Given the description of an element on the screen output the (x, y) to click on. 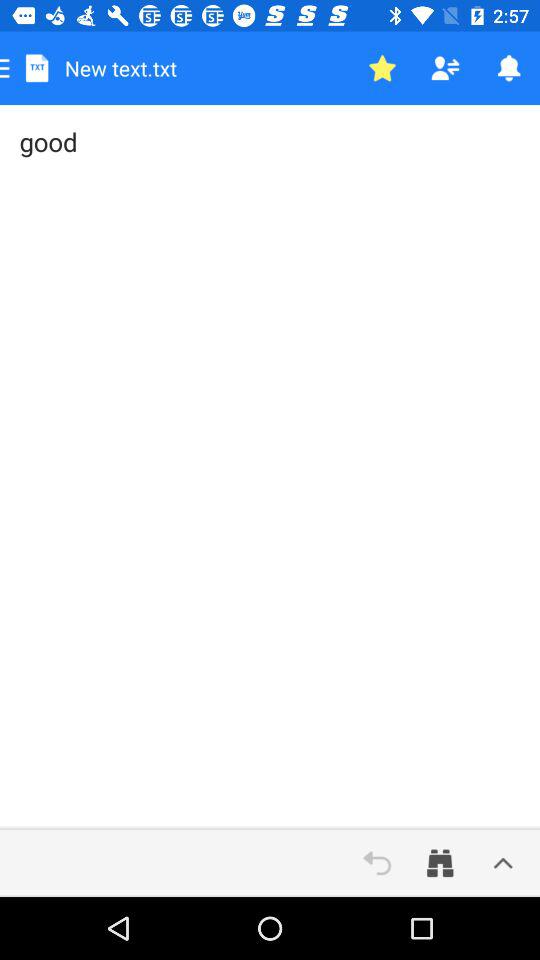
options (503, 863)
